Given the description of an element on the screen output the (x, y) to click on. 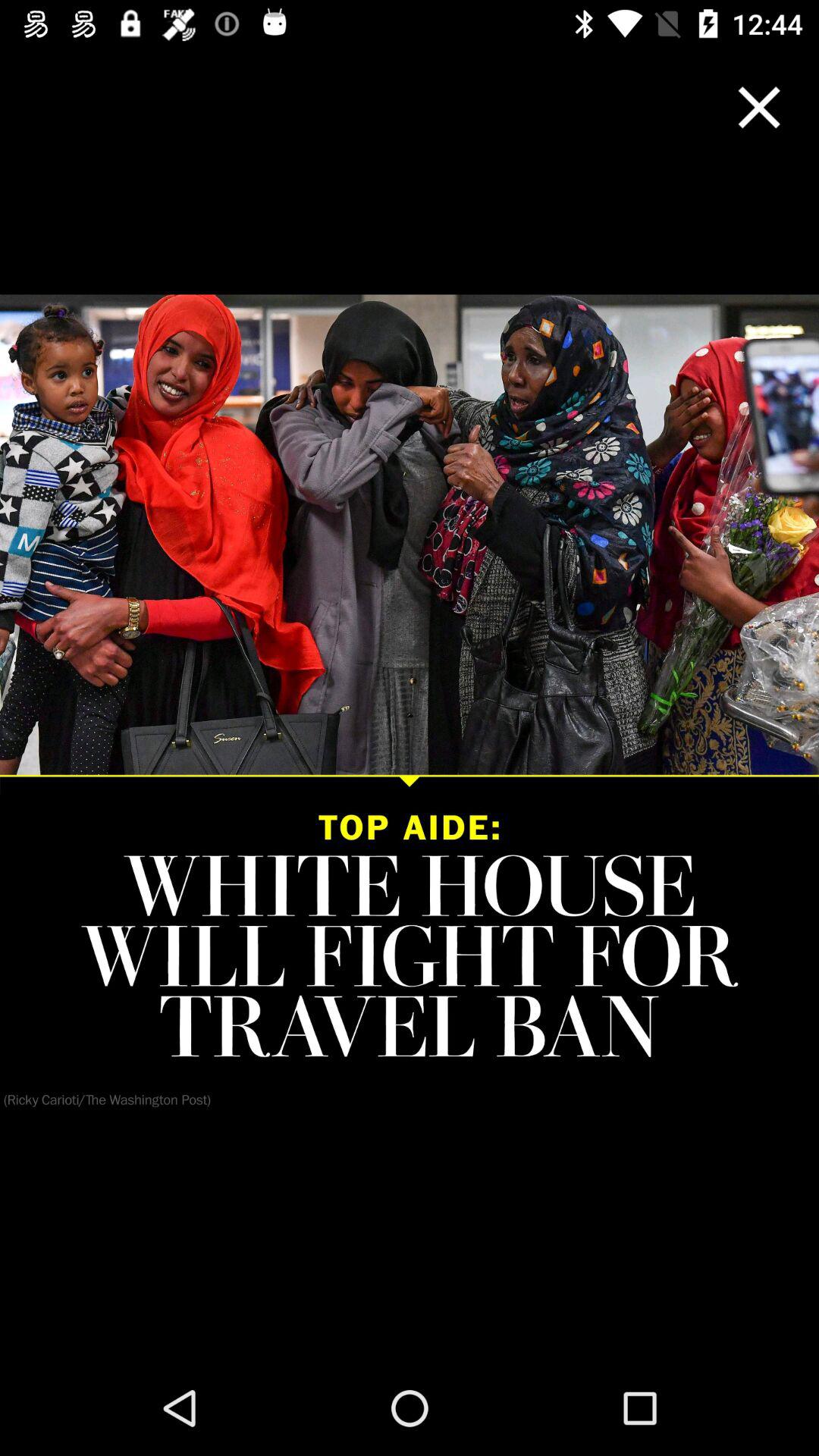
close out of this article (759, 107)
